Given the description of an element on the screen output the (x, y) to click on. 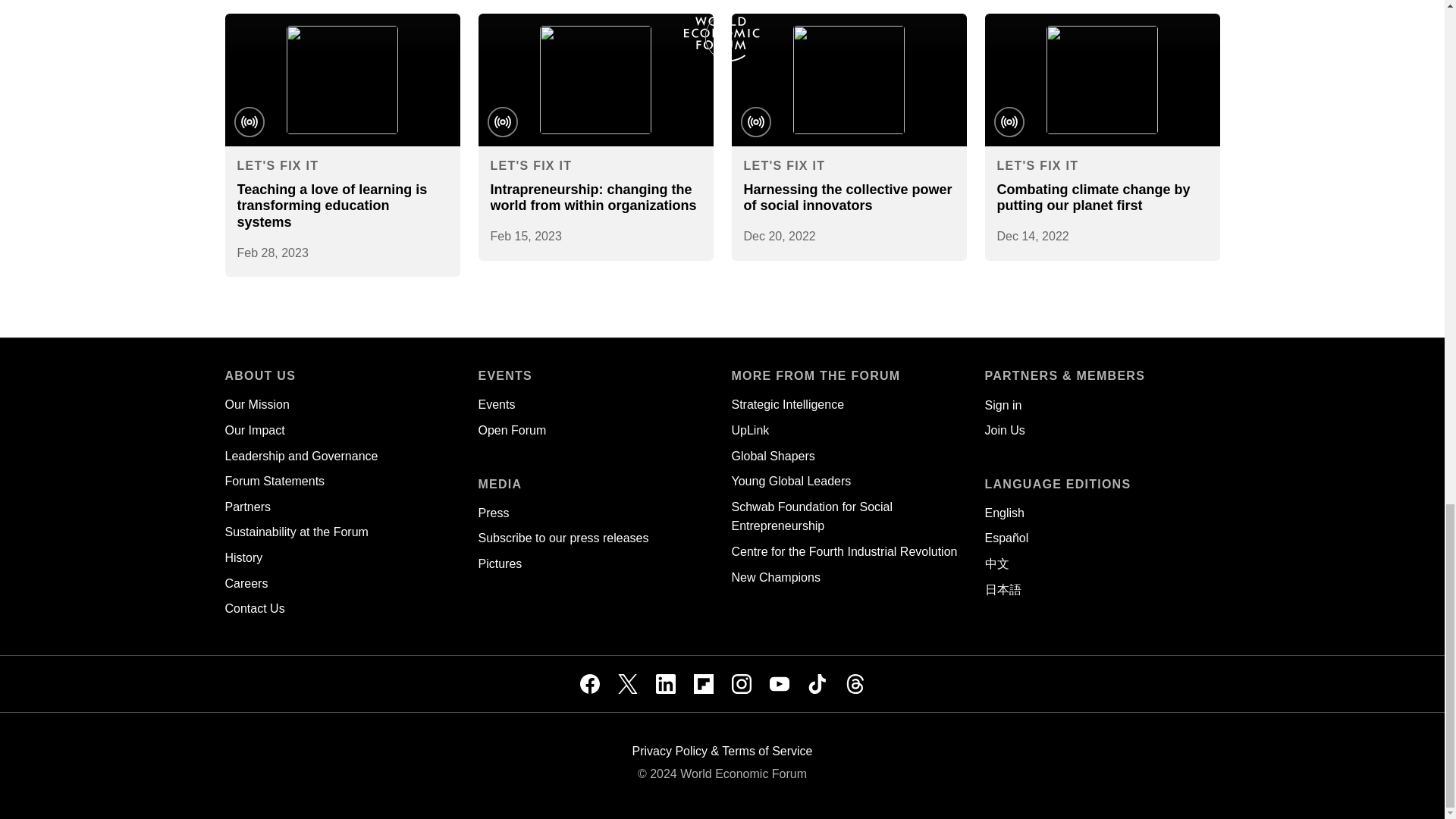
Sustainability at the Forum (296, 531)
Careers (245, 583)
Events (496, 404)
Harnessing the collective power of social innovators (847, 197)
Combating climate change by putting our planet first (1092, 197)
LET'S FIX IT (530, 165)
Pictures (499, 563)
Open Forum (511, 430)
Our Mission (256, 404)
